Given the description of an element on the screen output the (x, y) to click on. 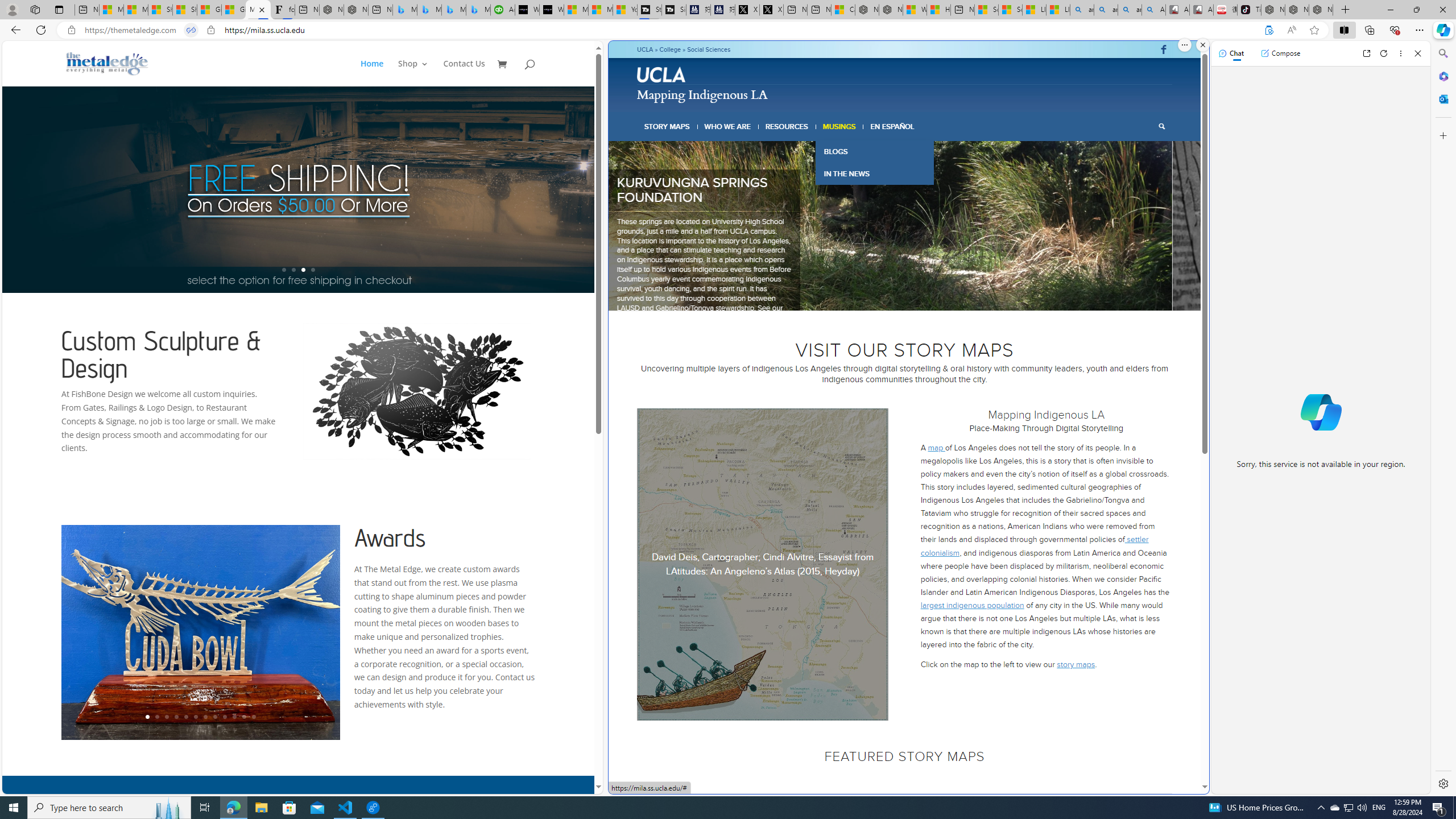
Accounting Software for Accountants, CPAs and Bookkeepers (502, 9)
 settler colonialism (1034, 545)
7 (927, 296)
Huge shark washes ashore at New York City beach | Watch (938, 9)
STORY MAPS (667, 126)
Nordace - Siena Pro 15 Essential Set (1321, 9)
STORY MAPS (667, 126)
WHO WE ARE (727, 126)
BLOGS (874, 151)
Outlook (1442, 98)
Nordace - #1 Japanese Best-Seller - Siena Smart Backpack (355, 9)
Social Sciences (708, 49)
